Given the description of an element on the screen output the (x, y) to click on. 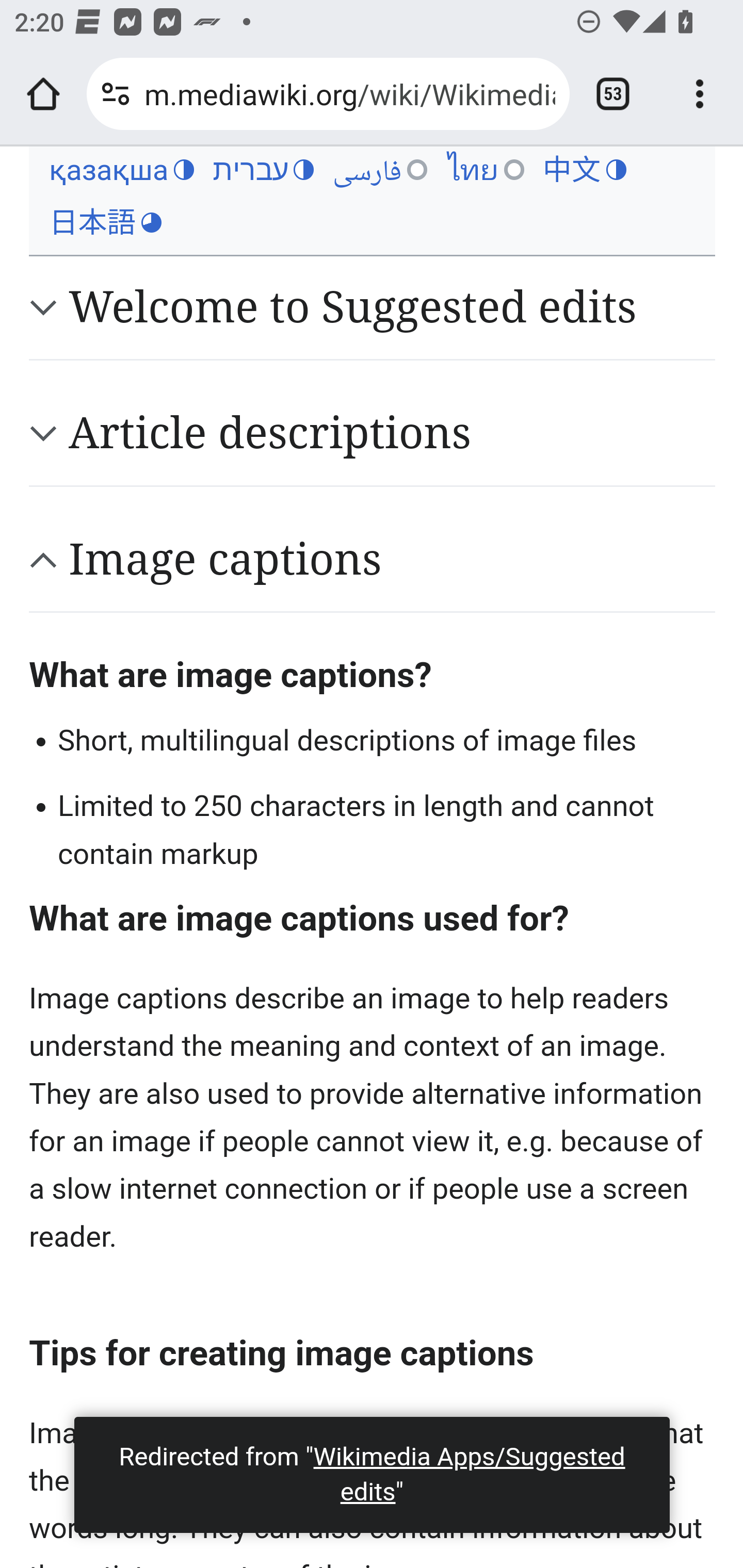
Open the home page (43, 93)
Connection is secure (115, 93)
Switch or close tabs (612, 93)
Customize and control Google Chrome (699, 93)
қазақша (121, 170)
עברית (263, 170)
فارسی (379, 170)
ไทย (484, 170)
中文 (583, 170)
日本語 (105, 222)
Welcome to Suggested edits (392, 306)
Article descriptions (392, 433)
Image captions (392, 558)
Wikimedia Apps/Suggested edits (469, 1473)
